Given the description of an element on the screen output the (x, y) to click on. 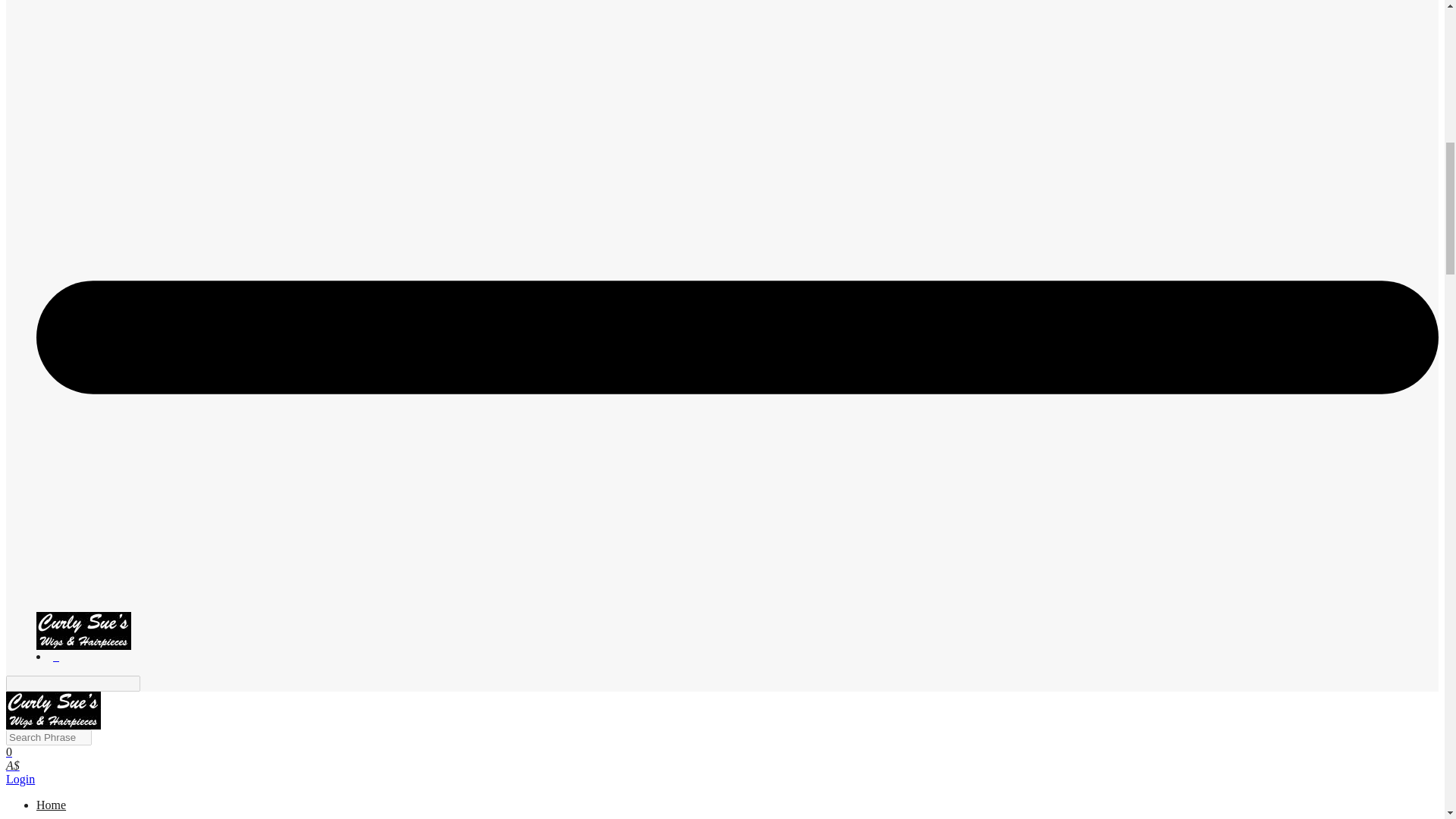
Find (148, 683)
Home (50, 804)
CS Logo (83, 630)
Login (19, 779)
Login (19, 779)
Select your currency (12, 765)
CS Logo (52, 710)
